Given the description of an element on the screen output the (x, y) to click on. 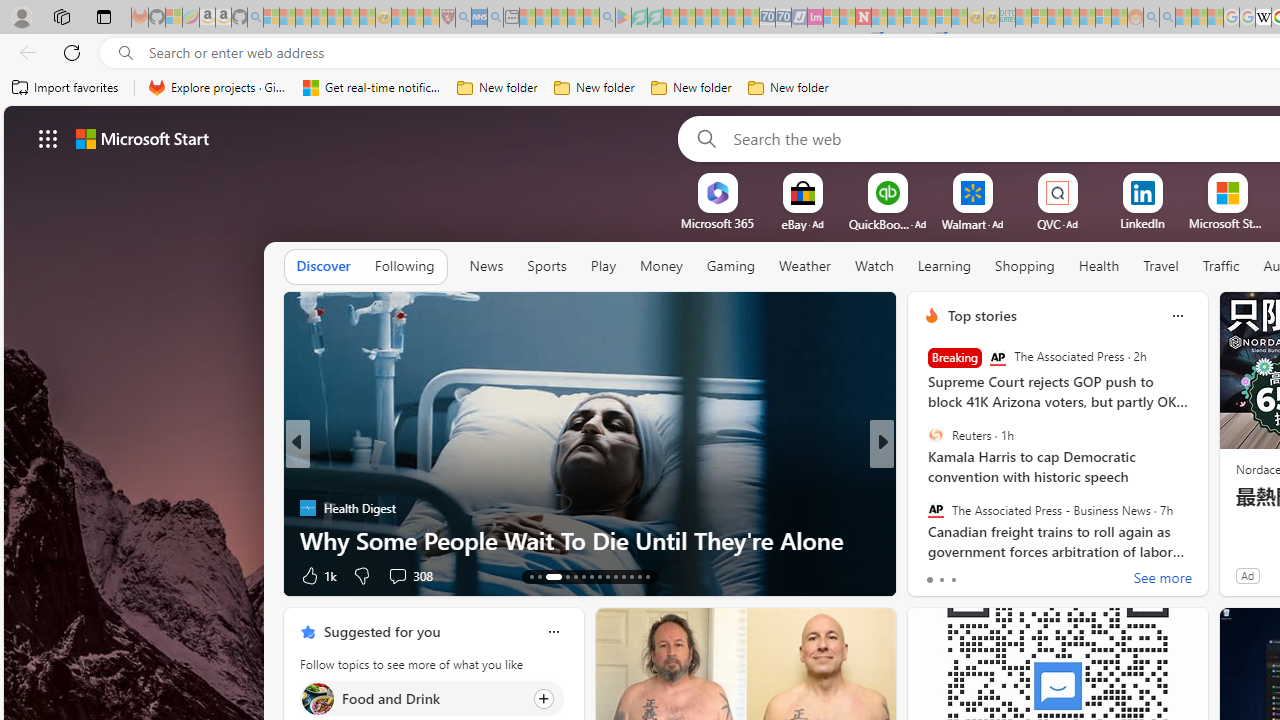
Top stories (982, 315)
Eggs All Ways (923, 507)
Search icon (125, 53)
View comments 6 Comment (1019, 574)
